Given the description of an element on the screen output the (x, y) to click on. 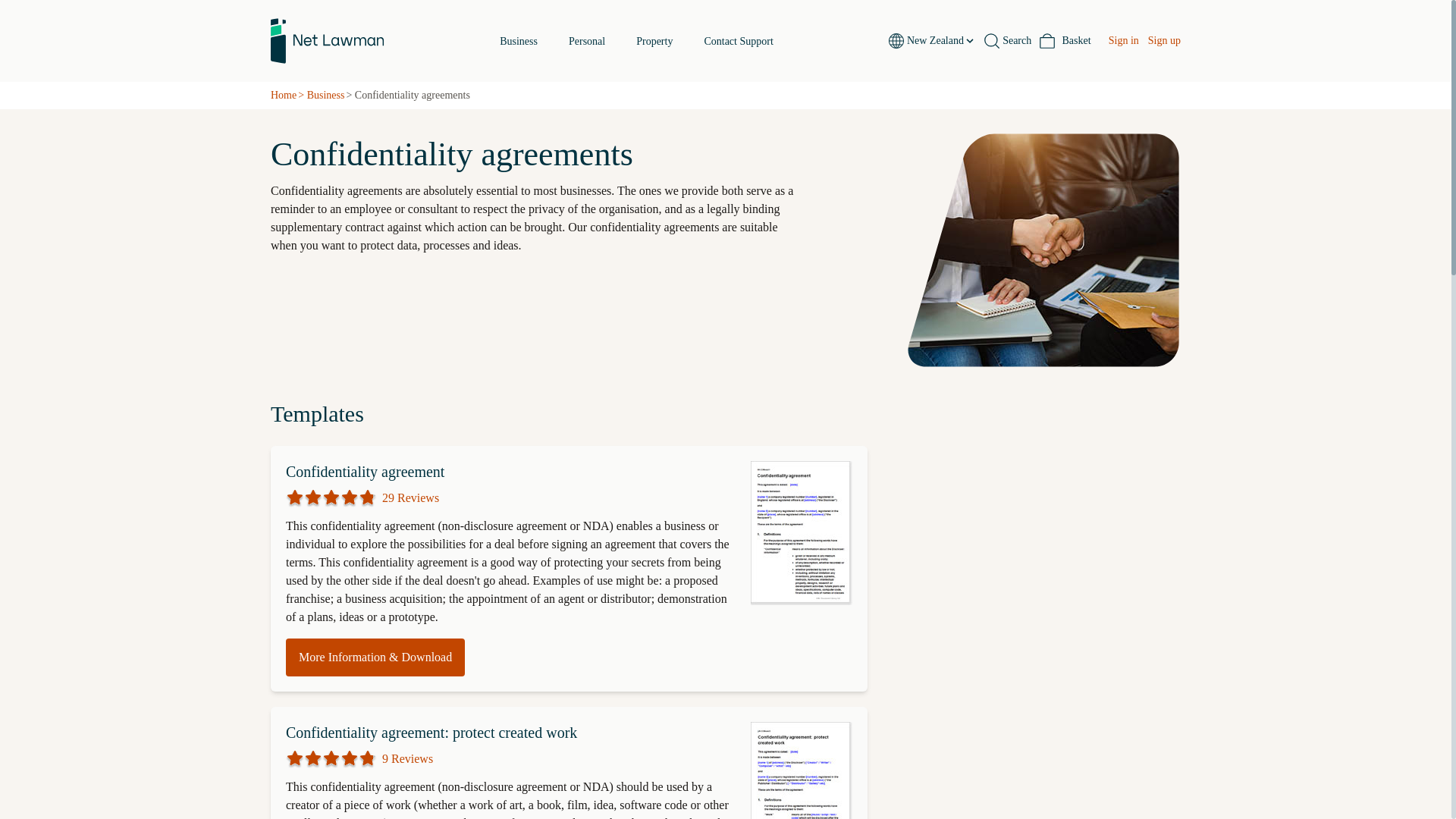
Property (654, 41)
Business (326, 95)
Sign in (1123, 40)
Home (283, 95)
New Zealand (941, 40)
Confidentiality agreement: protect created work (430, 732)
Contact Support (738, 41)
Sign up (1164, 40)
Business (636, 40)
Search (518, 41)
Confidentiality agreement (1007, 40)
Personal (364, 471)
Basket (587, 41)
